Given the description of an element on the screen output the (x, y) to click on. 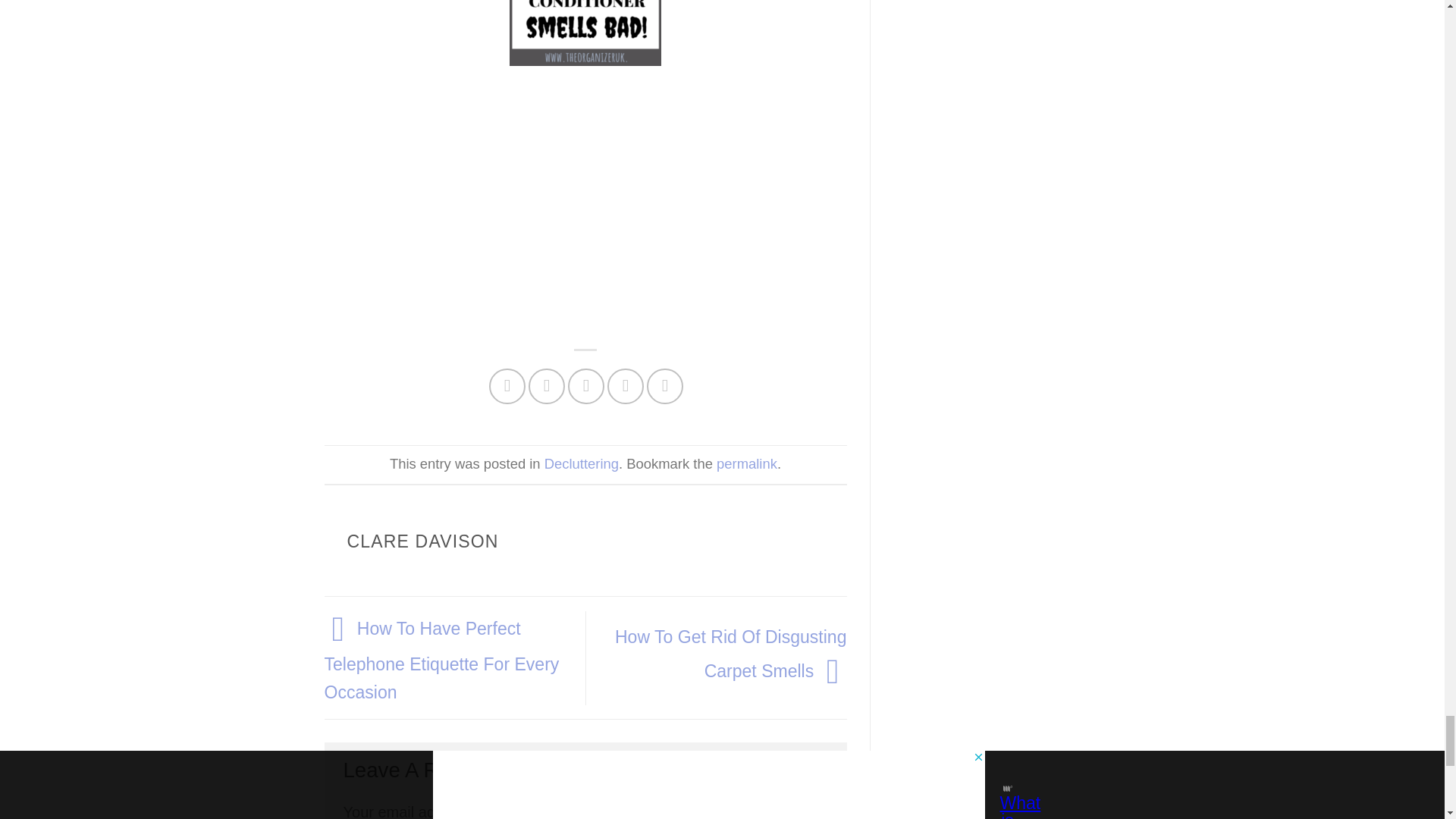
Share on Facebook (506, 386)
